Given the description of an element on the screen output the (x, y) to click on. 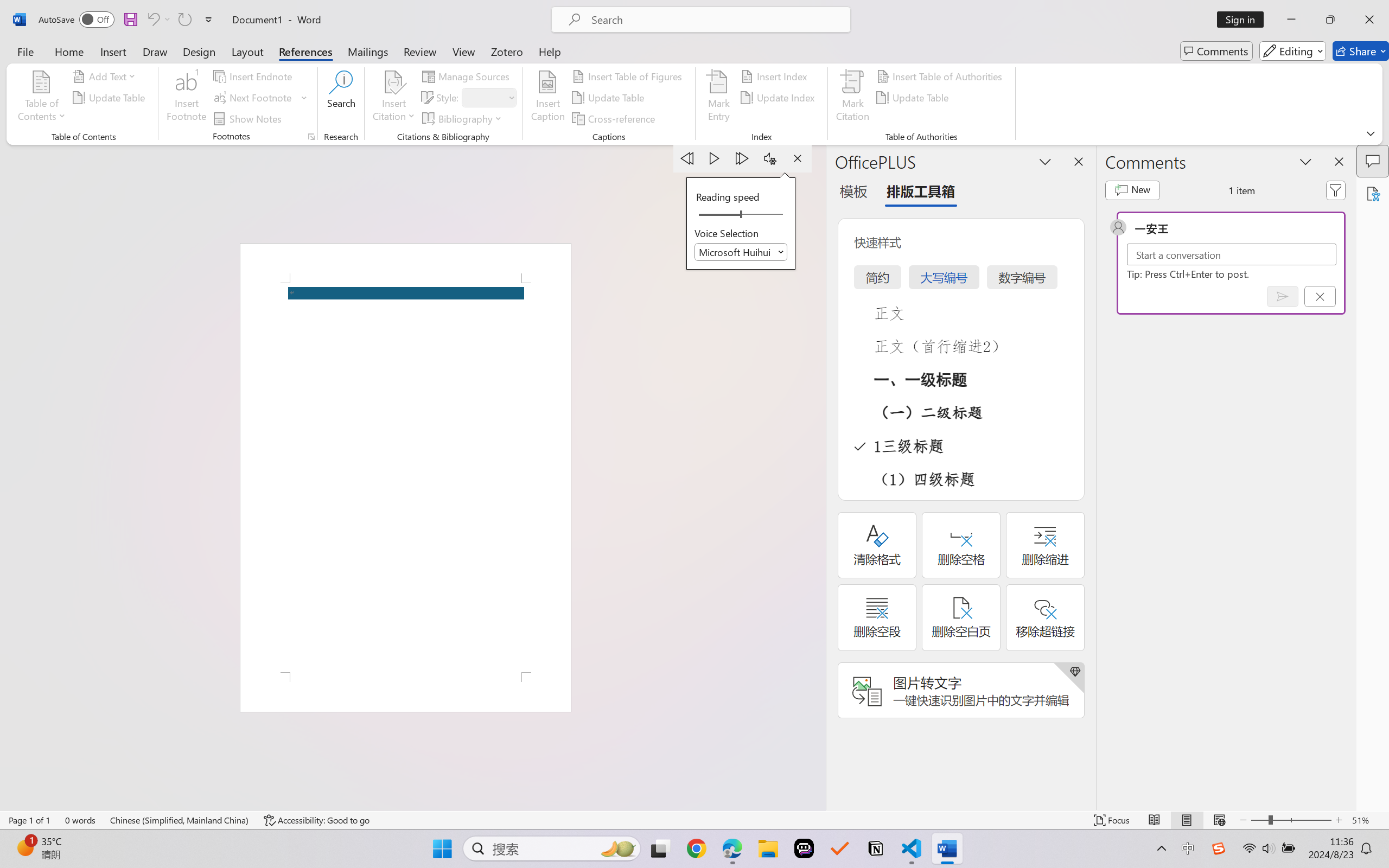
Stop (797, 158)
Insert Endnote (253, 75)
Bibliography (463, 118)
Play (715, 158)
Style (483, 96)
Undo Apply Quick Style Set (152, 19)
